Given the description of an element on the screen output the (x, y) to click on. 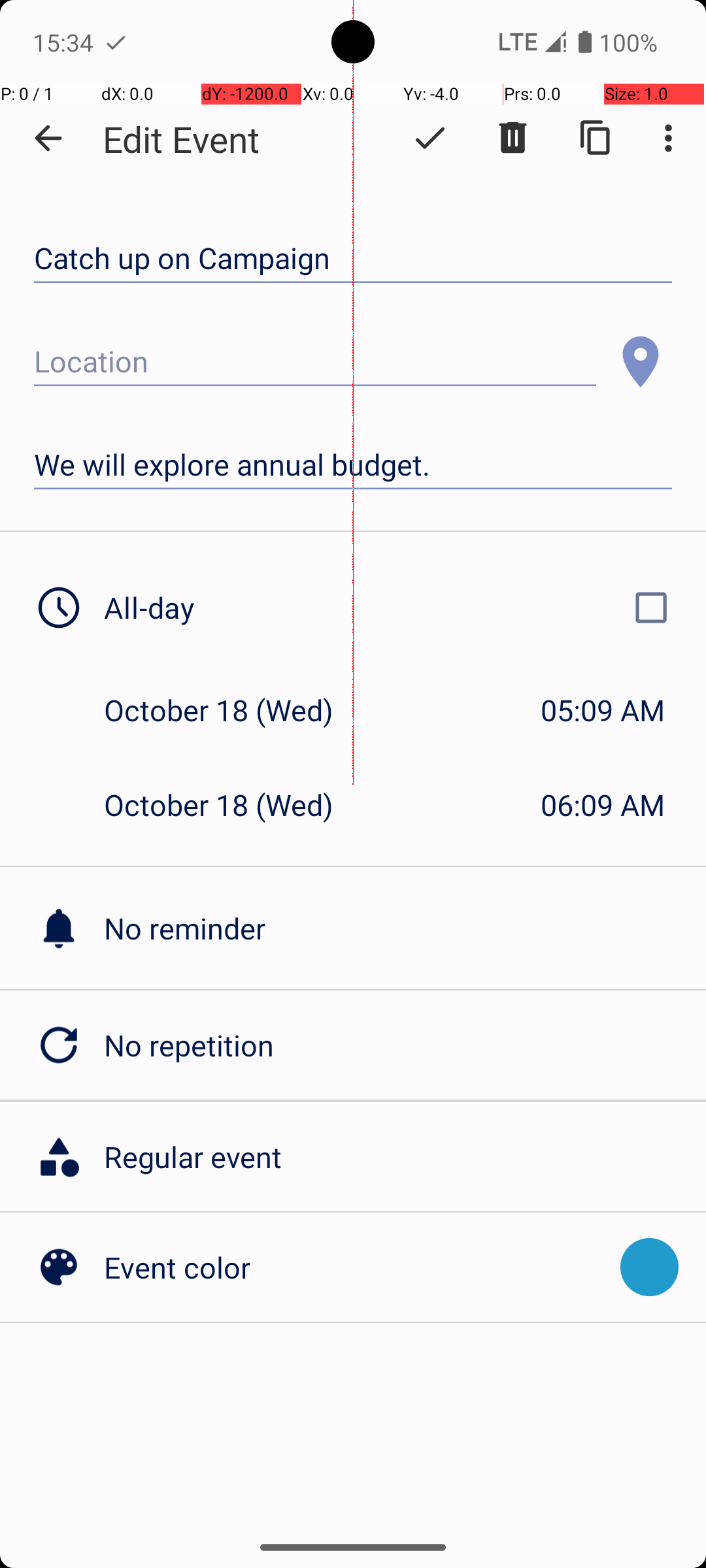
We will explore annual budget. Element type: android.widget.EditText (352, 465)
October 18 (Wed) Element type: android.widget.TextView (232, 709)
05:09 AM Element type: android.widget.TextView (602, 709)
06:09 AM Element type: android.widget.TextView (602, 804)
